Given the description of an element on the screen output the (x, y) to click on. 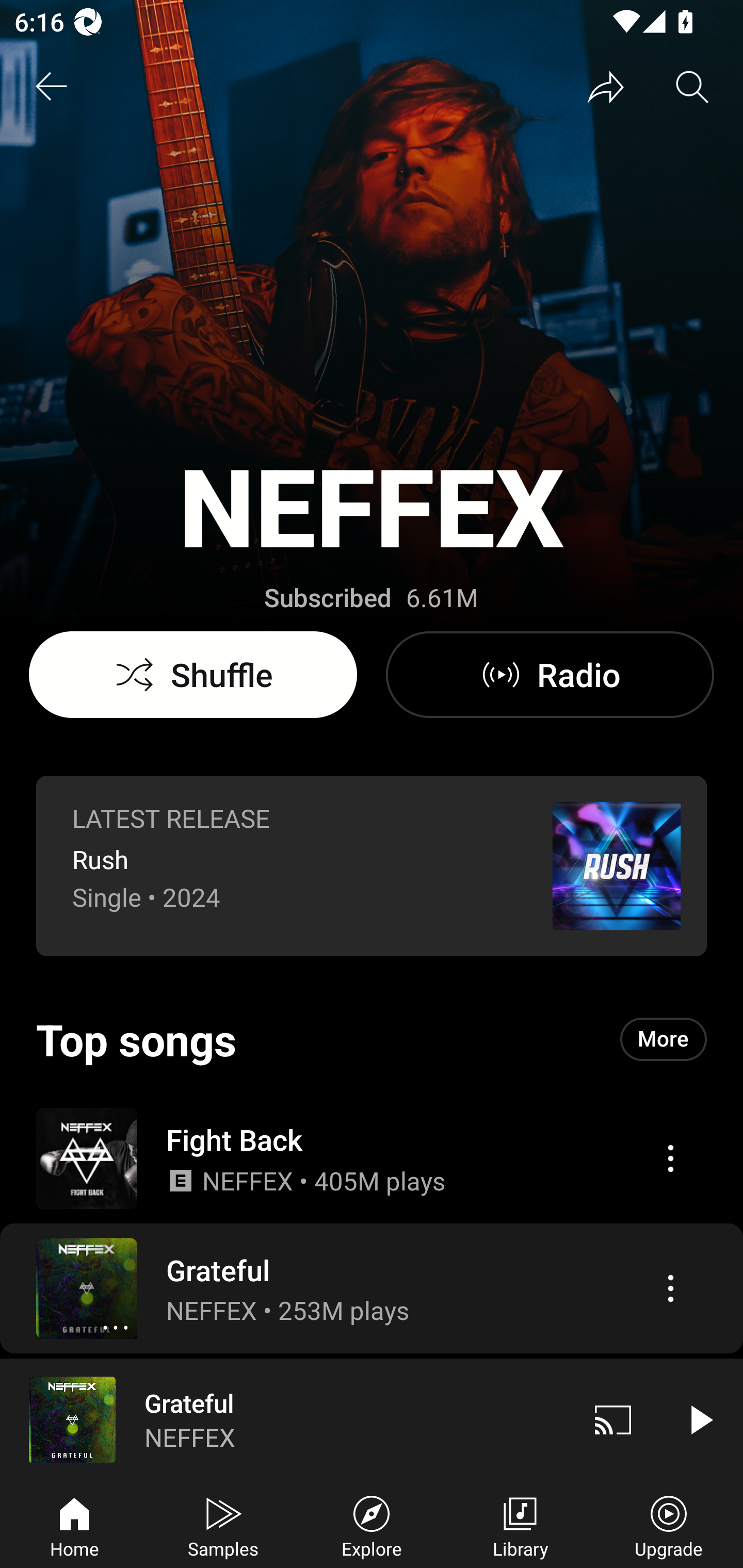
Back (50, 86)
Share (605, 86)
Search (692, 86)
Subscribed 6.61M (371, 598)
Shuffle (192, 674)
Radio (549, 674)
Action menu (371, 1157)
Action menu (670, 1158)
Action menu (371, 1288)
Action menu (670, 1288)
Grateful NEFFEX (284, 1419)
Cast. Disconnected (612, 1419)
Play video (699, 1419)
Home (74, 1524)
Samples (222, 1524)
Explore (371, 1524)
Library (519, 1524)
Upgrade (668, 1524)
